Given the description of an element on the screen output the (x, y) to click on. 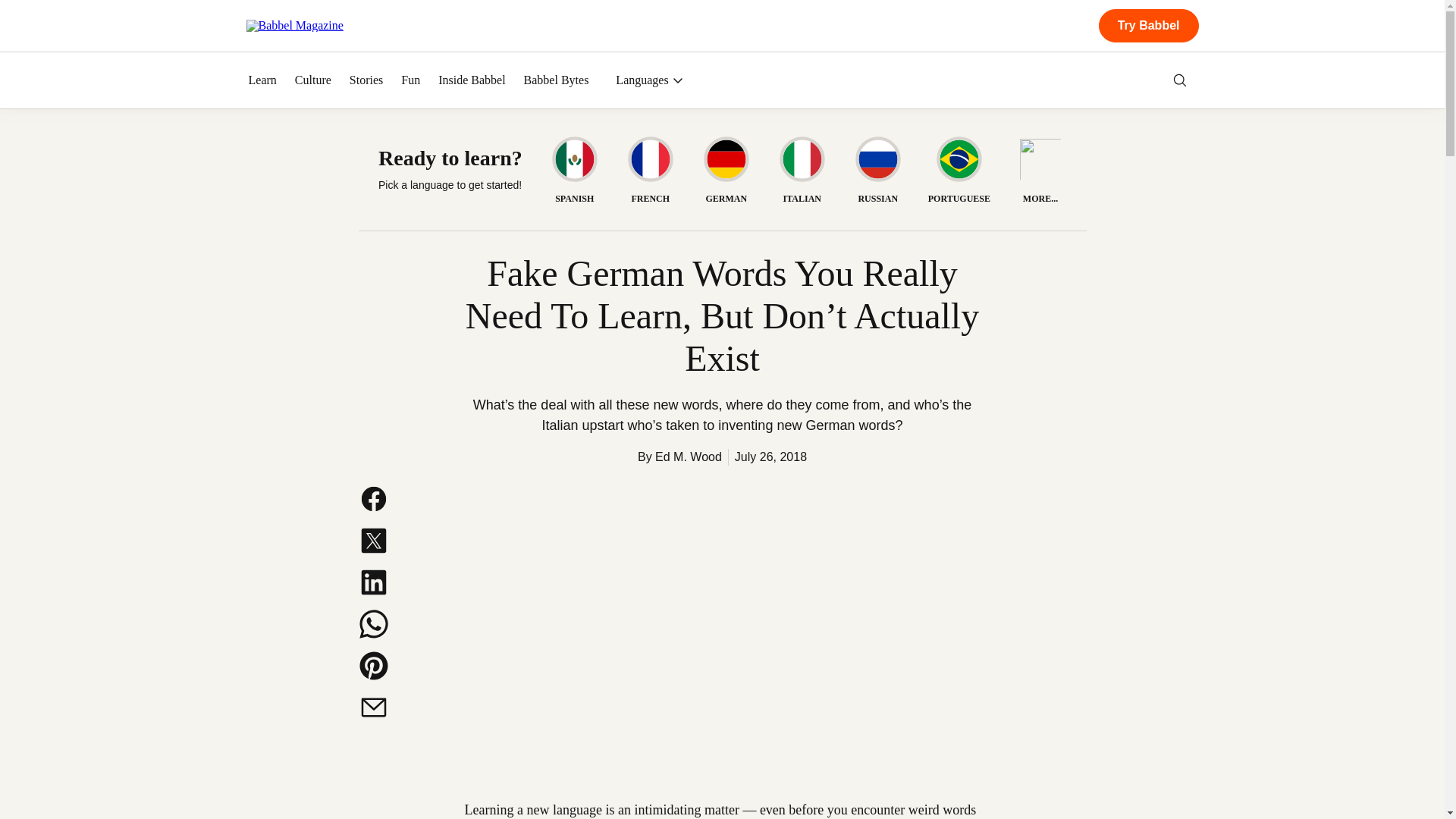
Fun (410, 79)
Culture (313, 79)
Stories (365, 79)
Inside Babbel (471, 79)
Toggle Search (1179, 80)
Languages (650, 80)
Babbel Bytes (556, 79)
Try Babbel (1148, 25)
Learn (262, 79)
